Given the description of an element on the screen output the (x, y) to click on. 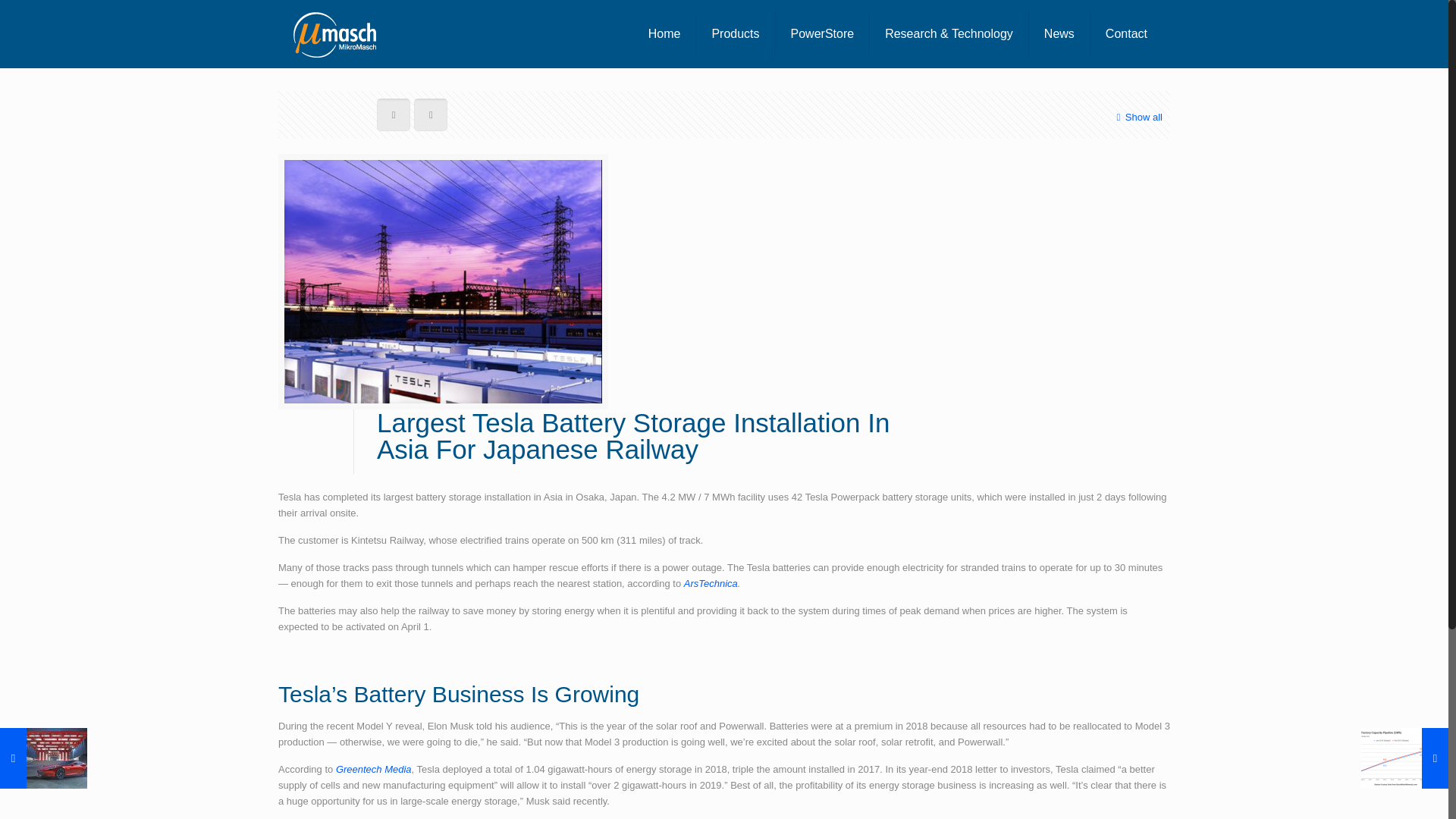
News (1059, 33)
MikroMasch (334, 33)
Show all (1136, 116)
ArsTechnica (711, 583)
Home (665, 33)
Contact (1125, 33)
PowerStore (823, 33)
Greentech Media (374, 768)
Products (734, 33)
